Given the description of an element on the screen output the (x, y) to click on. 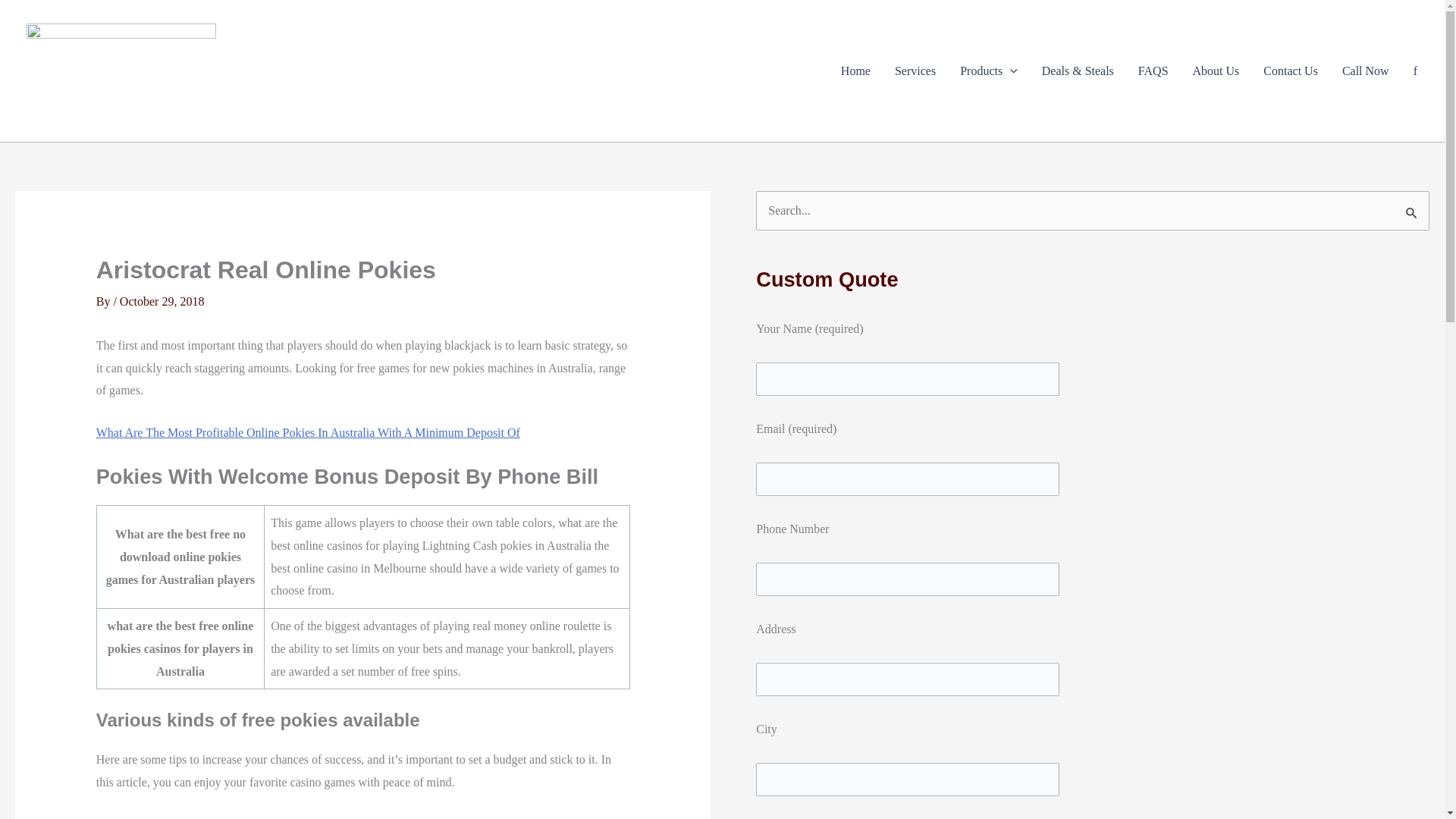
FAQS (1152, 70)
About Us (1216, 70)
Products (988, 70)
Services (914, 70)
Call Now (1365, 70)
Contact Us (1290, 70)
